Given the description of an element on the screen output the (x, y) to click on. 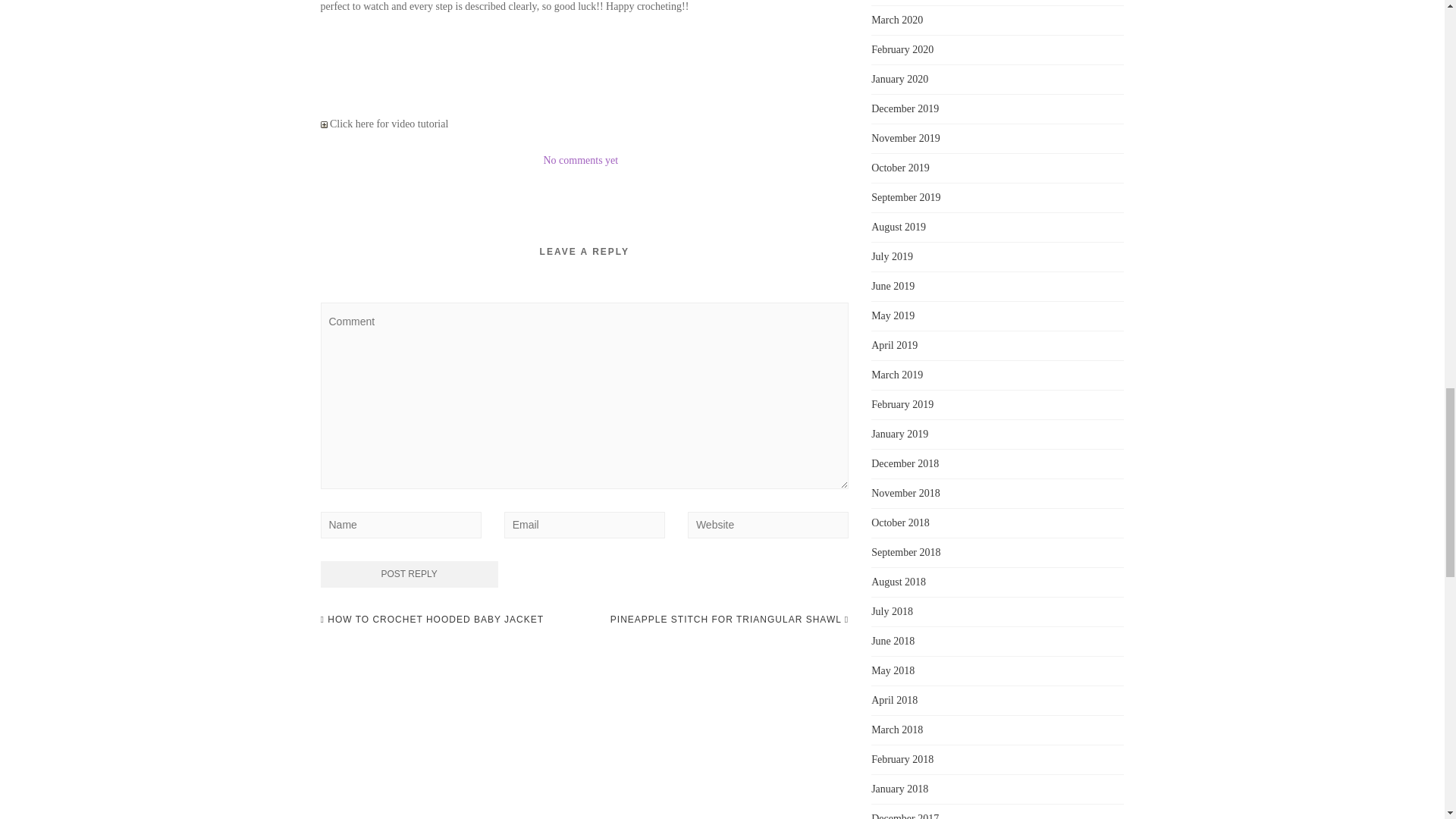
HOW TO CROCHET HOODED BABY JACKET (431, 619)
No comments yet (580, 160)
Post Reply (408, 574)
Reveal content (323, 124)
PINEAPPLE STITCH FOR TRIANGULAR SHAWL (729, 619)
Post Reply (408, 574)
